Given the description of an element on the screen output the (x, y) to click on. 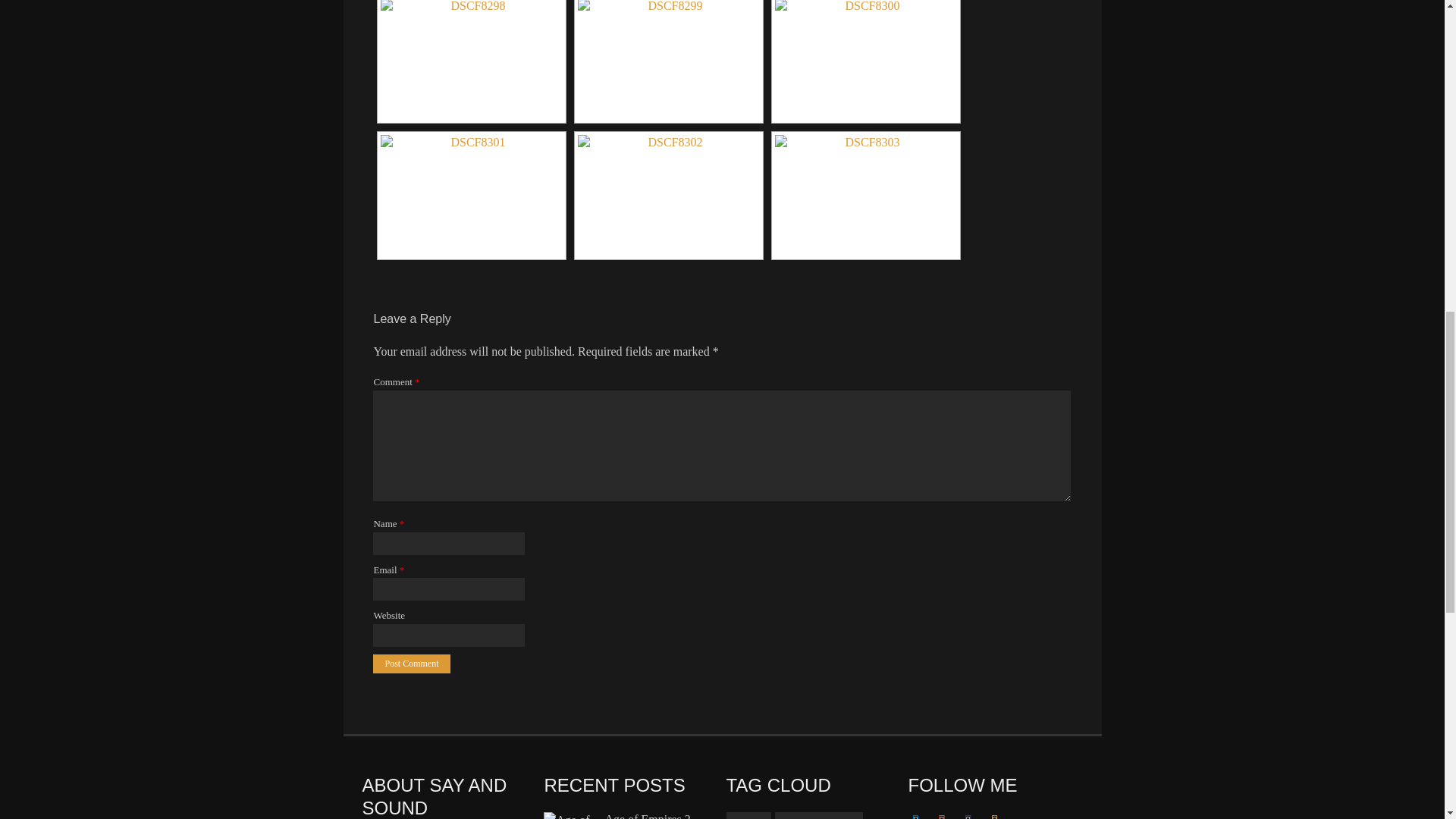
DSCF8300 (865, 59)
DSCF8299 (669, 59)
DSCF8298 (471, 59)
Post Comment (410, 663)
